Given the description of an element on the screen output the (x, y) to click on. 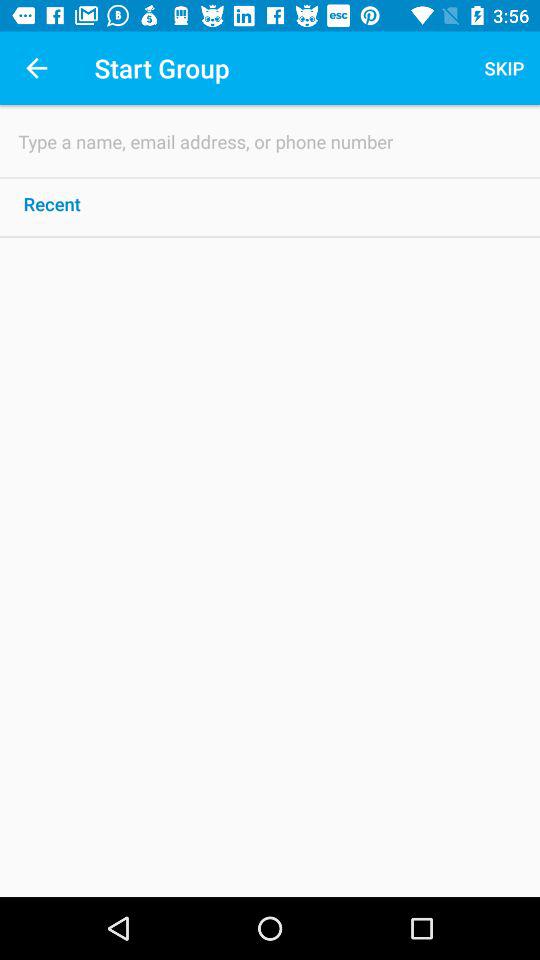
turn on icon next to start group item (36, 68)
